Given the description of an element on the screen output the (x, y) to click on. 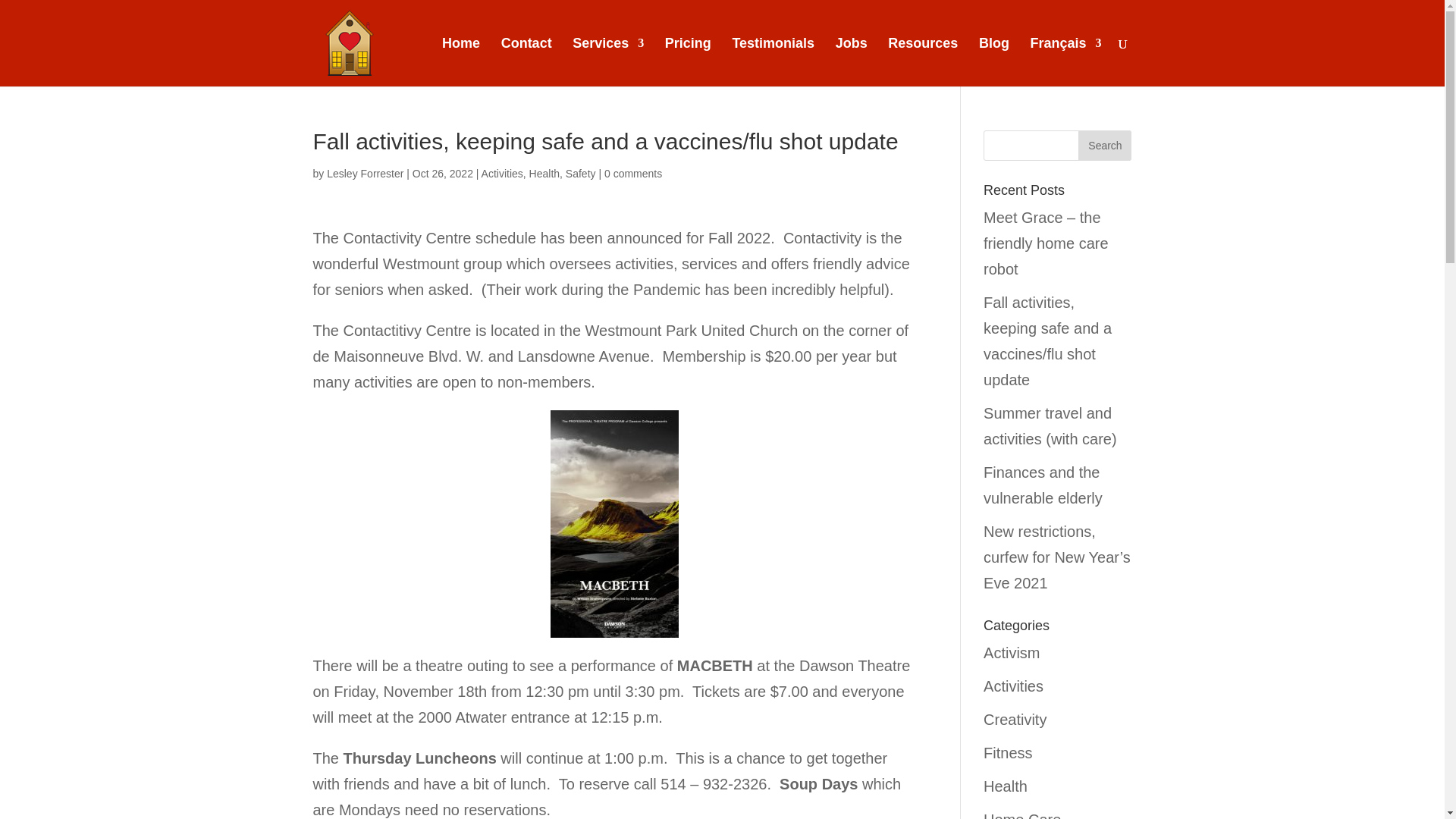
Posts by Lesley Forrester (364, 173)
Blog (993, 61)
Home (461, 61)
Lesley Forrester (364, 173)
Contact (525, 61)
Search (1104, 145)
Activities (501, 173)
Jobs (851, 61)
Services (607, 61)
Testimonials (772, 61)
Health (544, 173)
Pricing (688, 61)
Resources (923, 61)
